Given the description of an element on the screen output the (x, y) to click on. 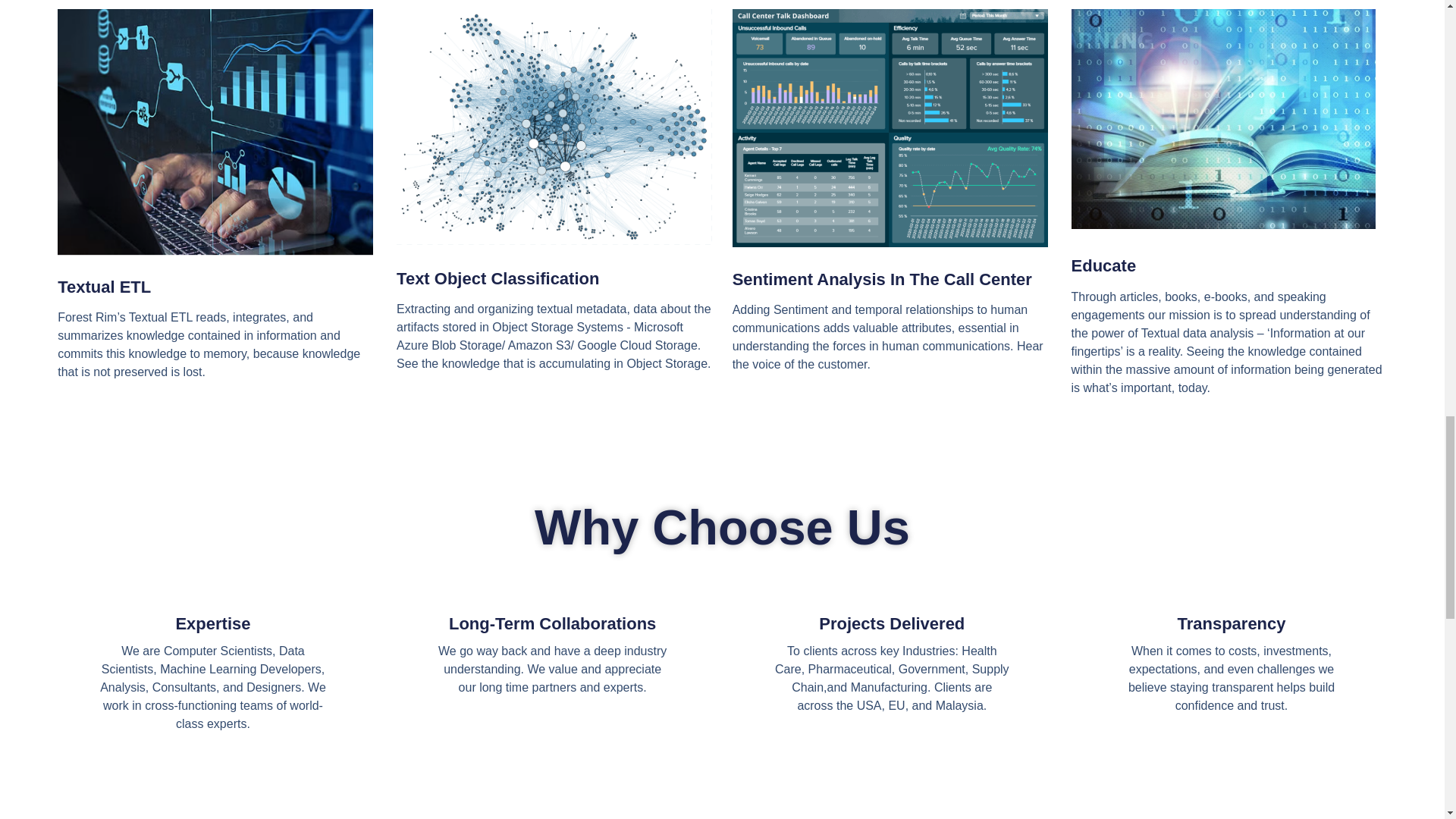
Textual ETL (104, 286)
Text Object Classification (497, 278)
